Given the description of an element on the screen output the (x, y) to click on. 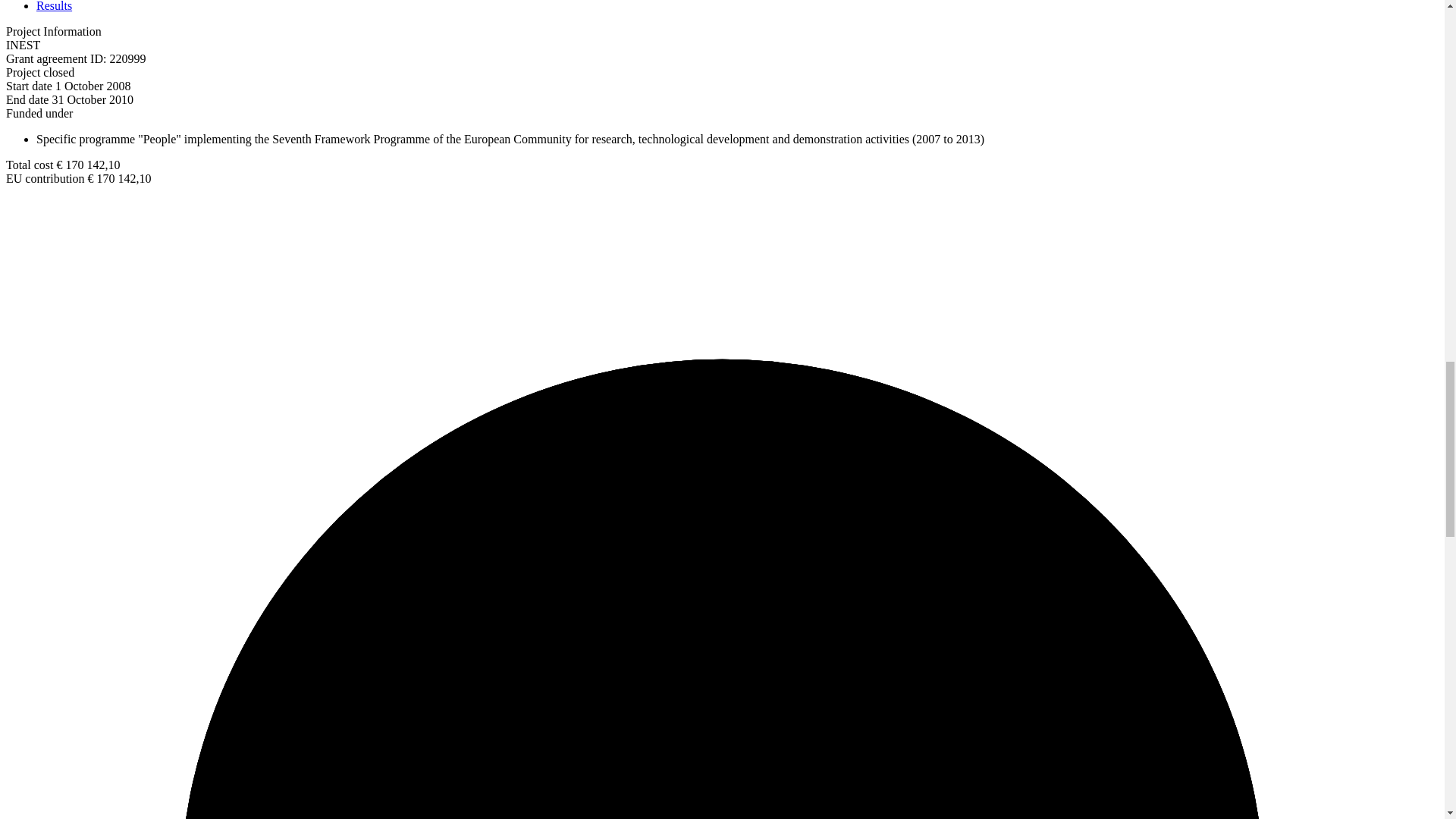
Results (53, 6)
